Given the description of an element on the screen output the (x, y) to click on. 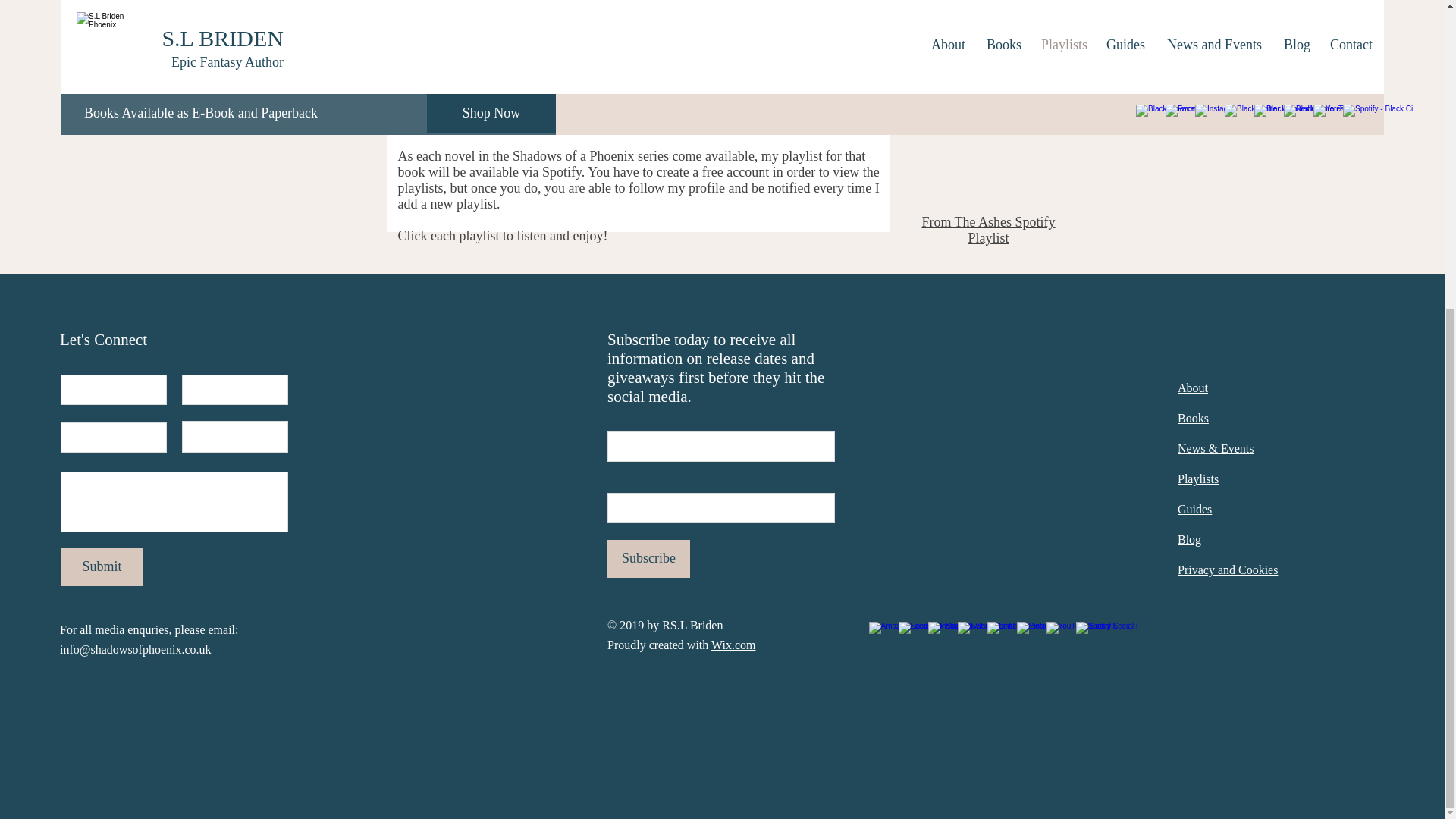
Blog (1189, 539)
From The Ashes Spotify Playlist (987, 229)
Wix.com (733, 644)
Privacy and Cookies (1227, 569)
Guides (1194, 508)
Playlists (1197, 478)
Subscribe (648, 558)
Submit (101, 566)
Books (1192, 418)
About (1192, 387)
